Given the description of an element on the screen output the (x, y) to click on. 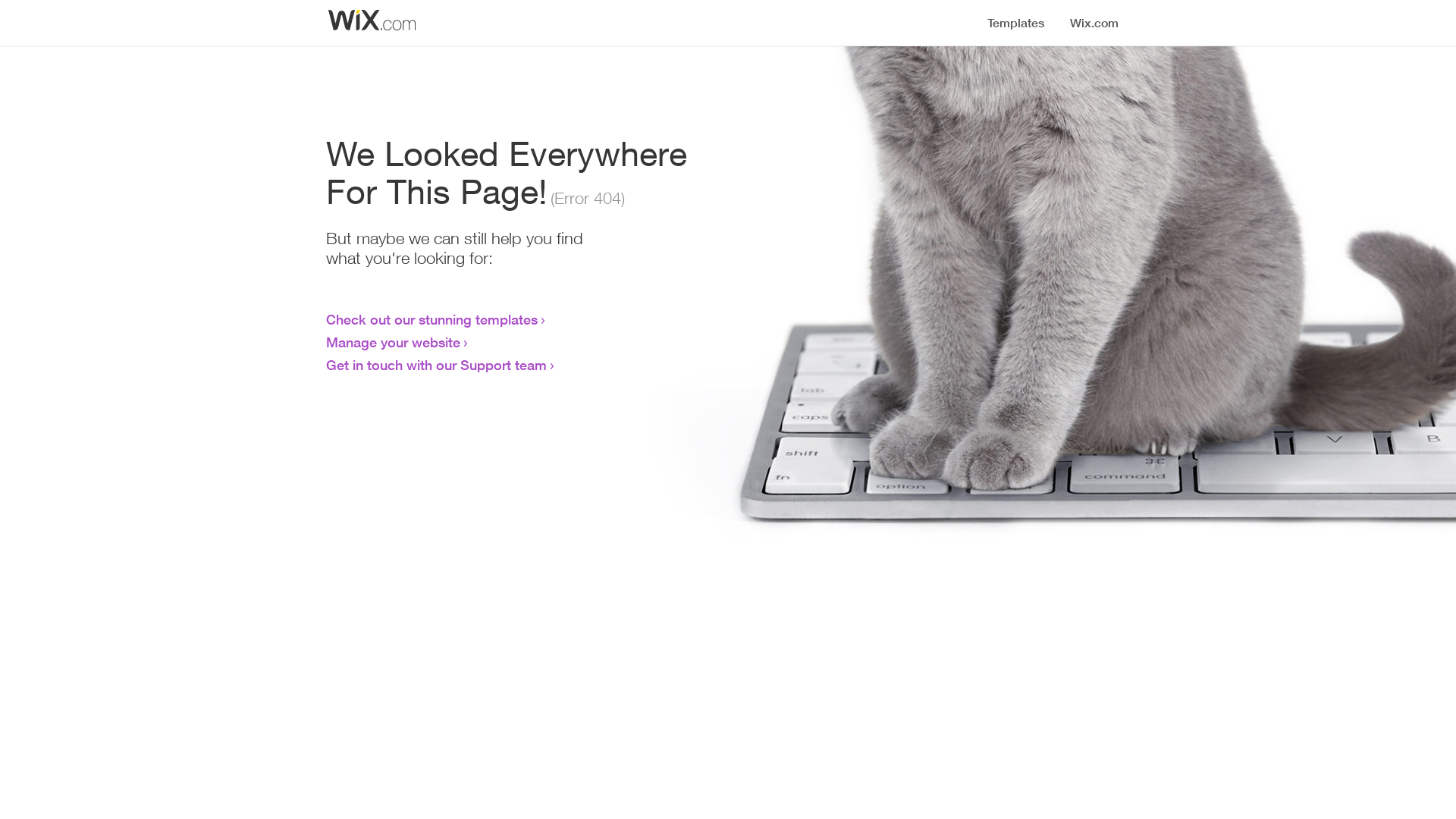
Check out our stunning templates Element type: text (431, 318)
Manage your website Element type: text (393, 341)
Get in touch with our Support team Element type: text (436, 364)
